Given the description of an element on the screen output the (x, y) to click on. 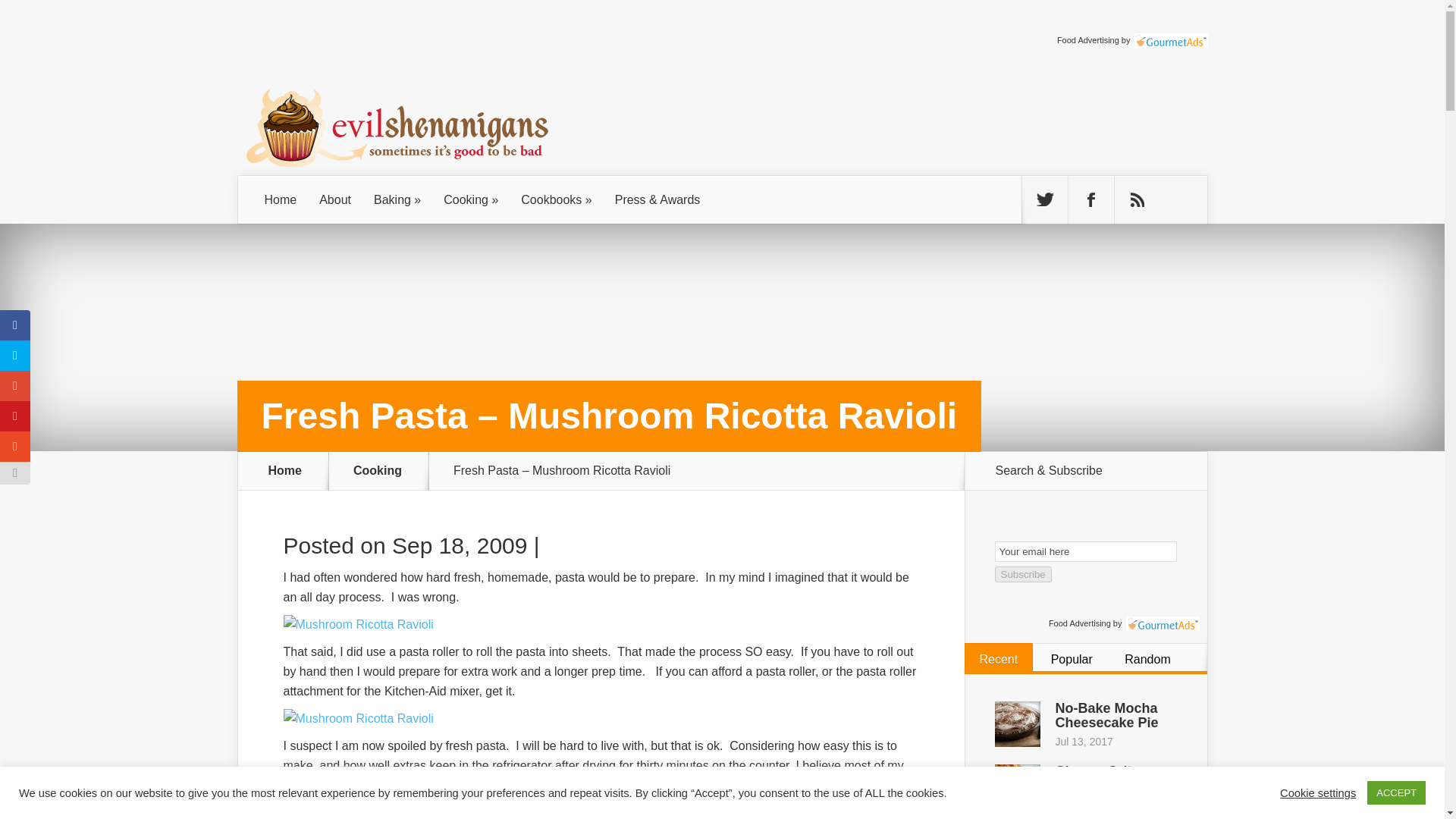
Mushroom Ricotta Ravioli (358, 624)
Your email here (1085, 551)
Food Advertising (1088, 40)
Mushroom Ricotta Ravioli (358, 717)
Food Advertising (1088, 40)
Your email here (1085, 551)
